Given the description of an element on the screen output the (x, y) to click on. 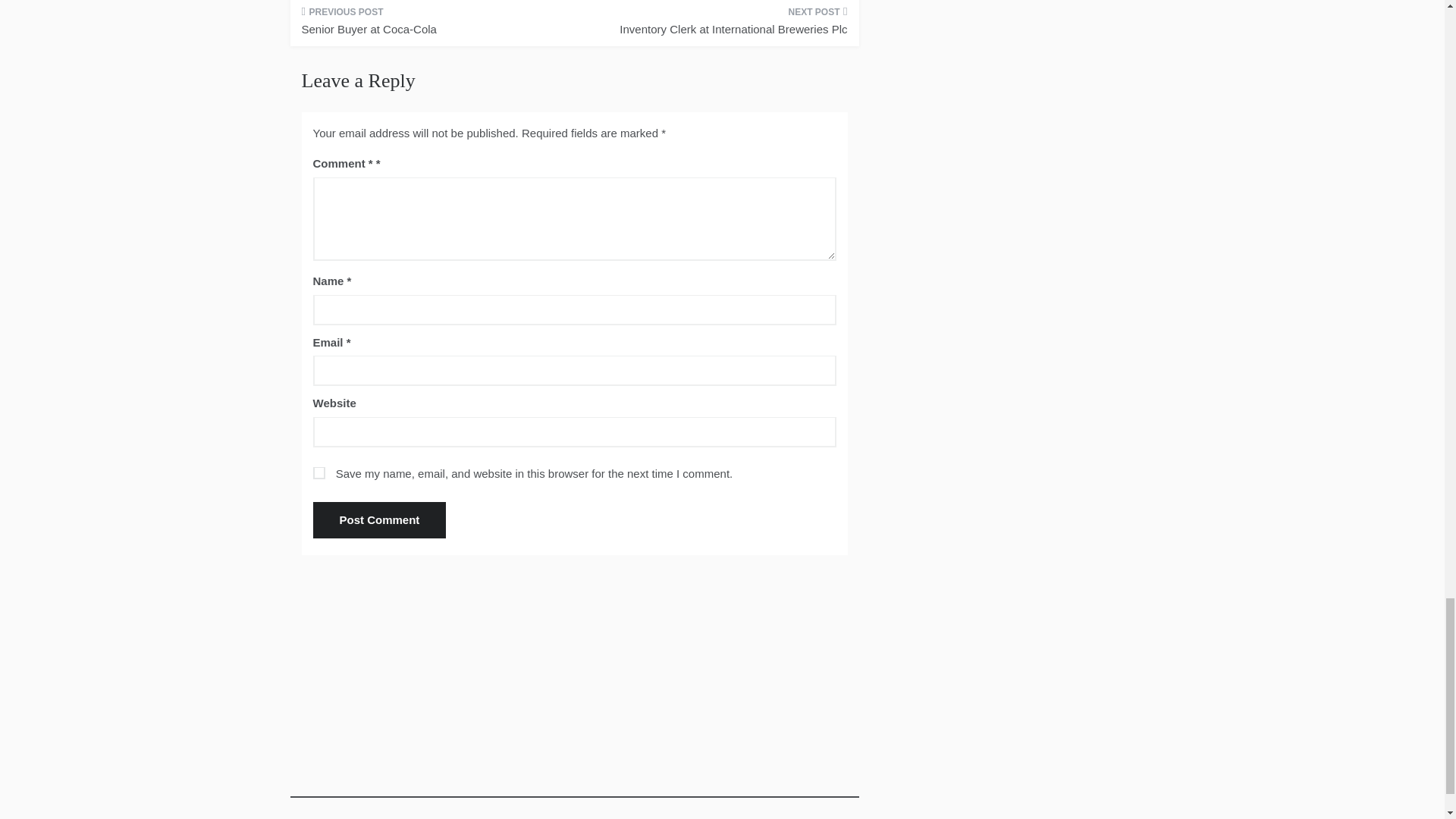
Inventory Clerk at International Breweries Plc (716, 25)
yes (318, 472)
Senior Buyer at Coca-Cola (432, 25)
Post Comment (379, 520)
Post Comment (379, 520)
